Given the description of an element on the screen output the (x, y) to click on. 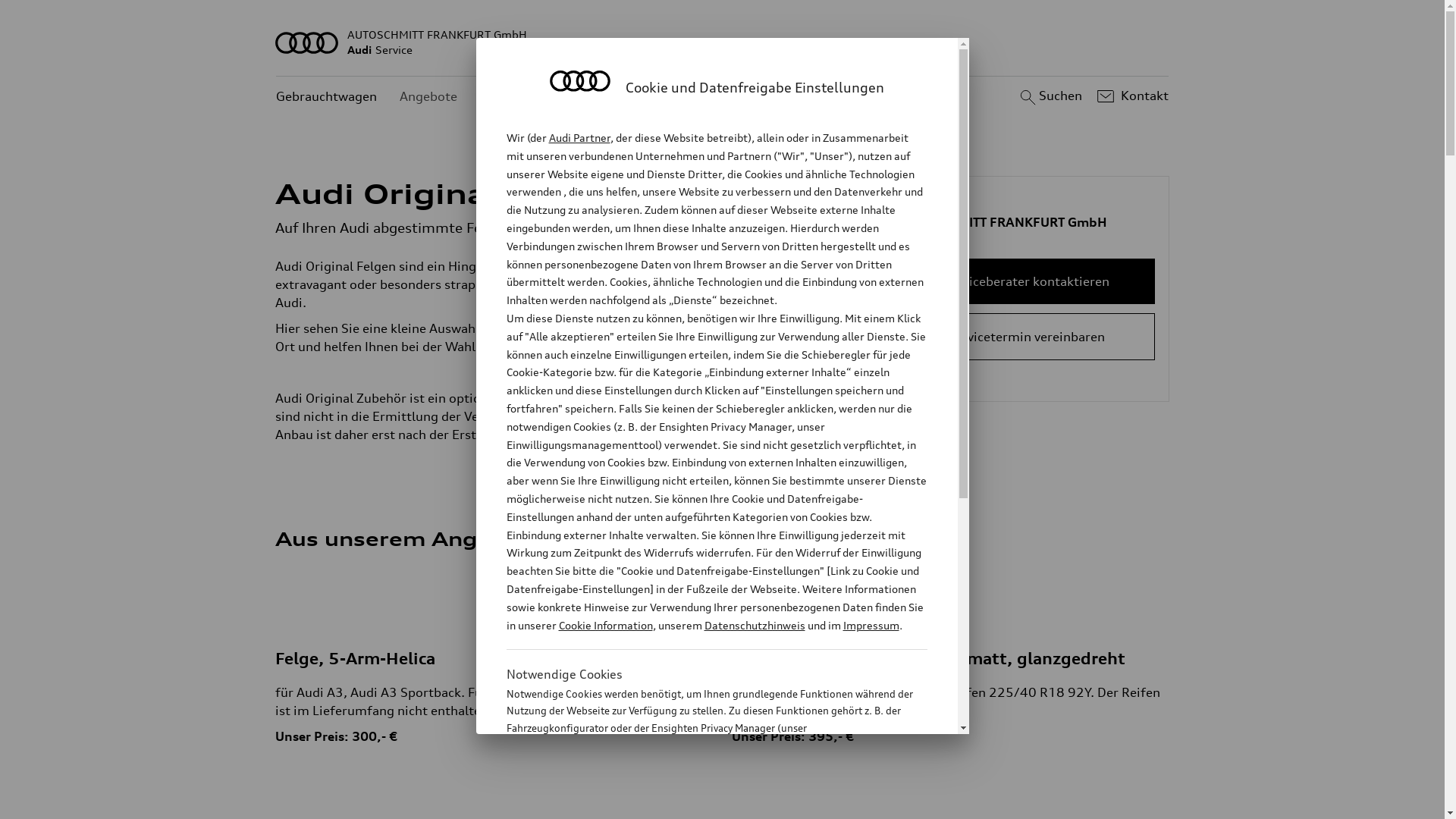
Servicetermin vereinbaren Element type: text (1025, 336)
Cookie Information Element type: text (605, 624)
AUTOSCHMITT FRANKFURT GmbH
AudiService Element type: text (722, 42)
Datenschutzhinweis Element type: text (753, 624)
Audi Partner Element type: text (579, 137)
Kundenservice Element type: text (523, 96)
Impressum Element type: text (871, 624)
Angebote Element type: text (428, 96)
Kontakt Element type: text (1130, 96)
Gebrauchtwagen Element type: text (326, 96)
Cookie Information Element type: text (700, 802)
Serviceberater kontaktieren Element type: text (1025, 281)
Suchen Element type: text (1049, 96)
